Given the description of an element on the screen output the (x, y) to click on. 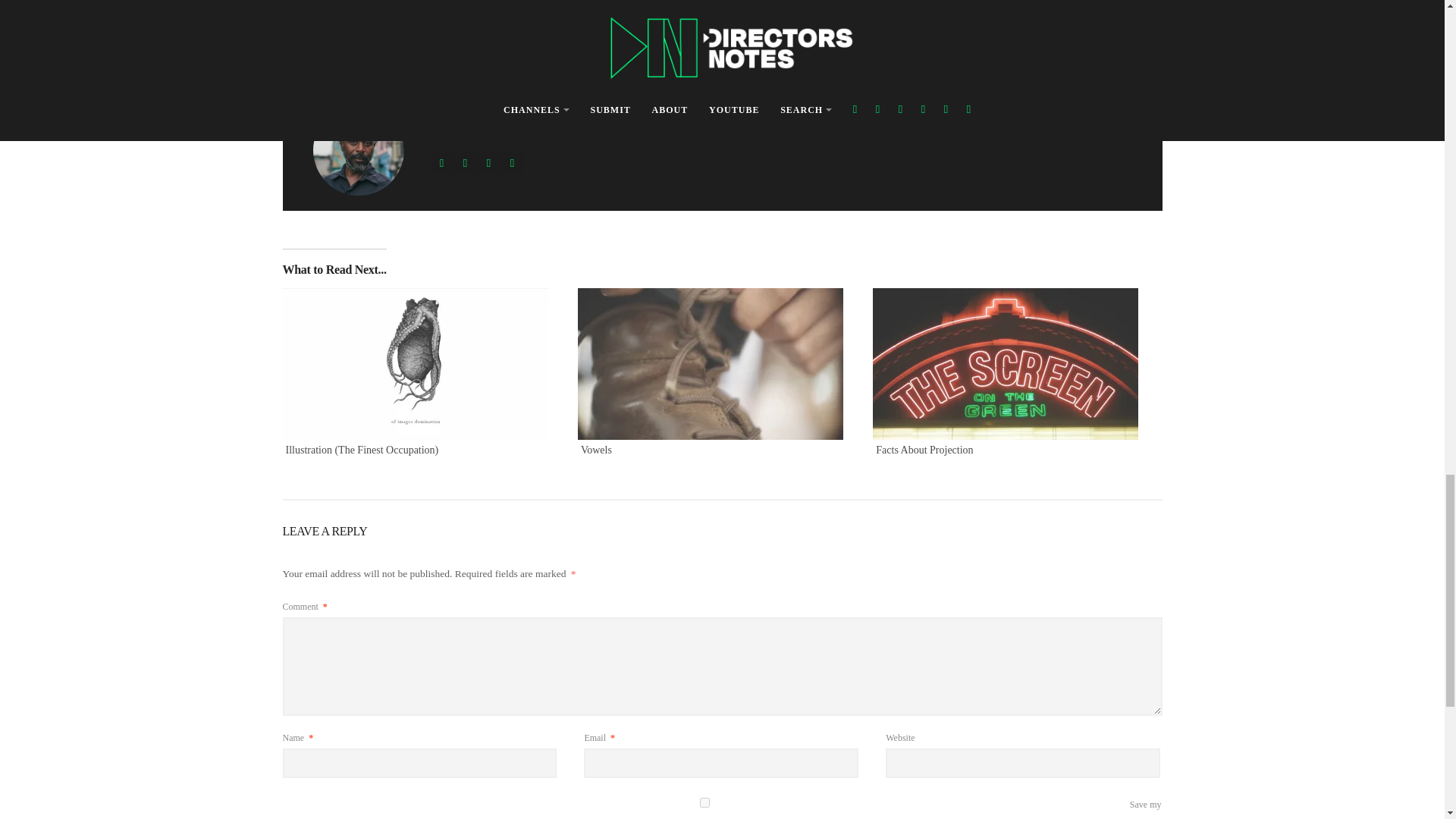
Vowels (595, 449)
yes (704, 802)
Posts by MarBelle (422, 80)
UK (388, 30)
Vowels (595, 449)
TEMUJIN DORAN (344, 30)
Vowels (717, 363)
MarBelle (422, 80)
